Given the description of an element on the screen output the (x, y) to click on. 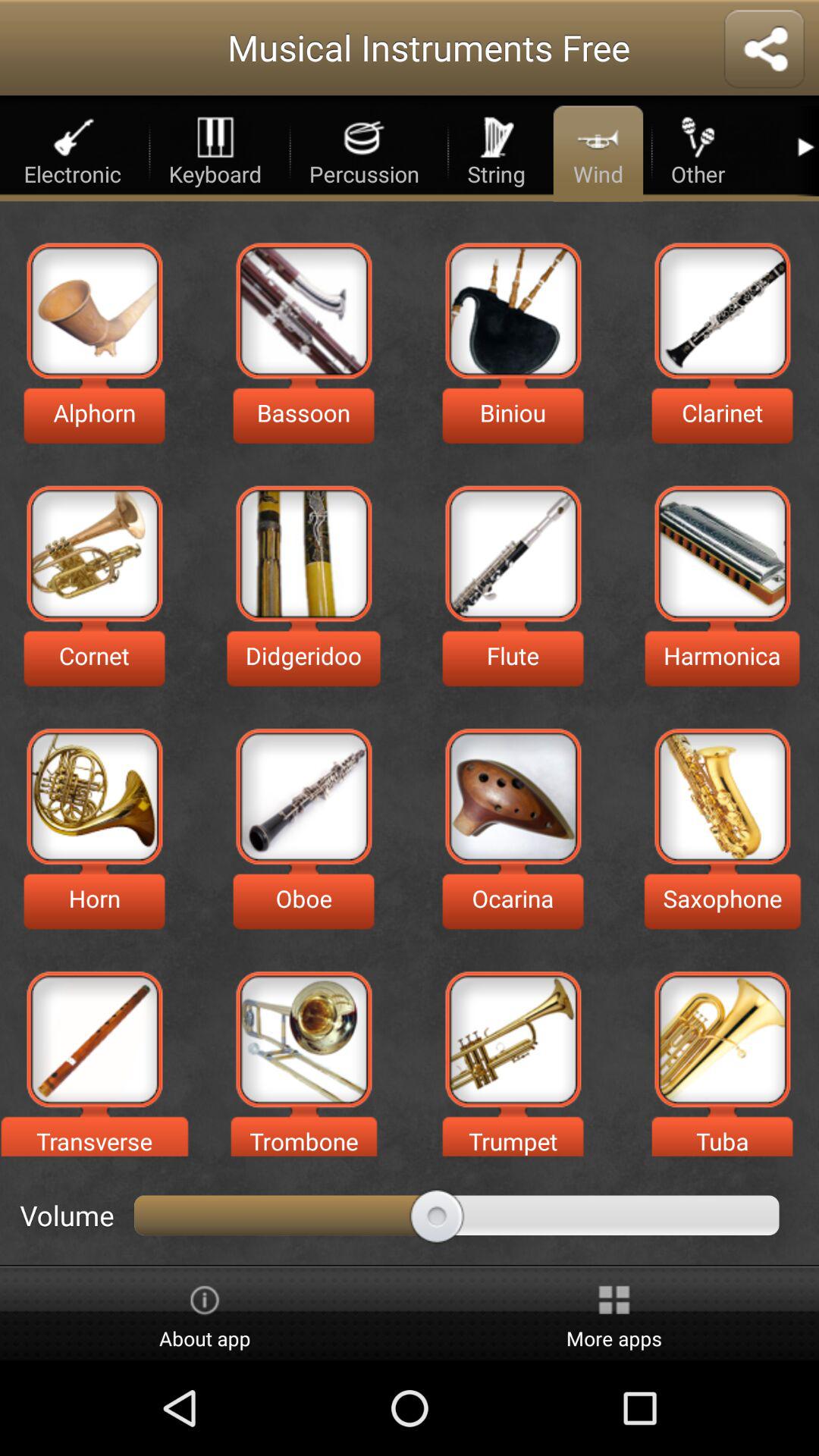
play trumpet (513, 1039)
